Given the description of an element on the screen output the (x, y) to click on. 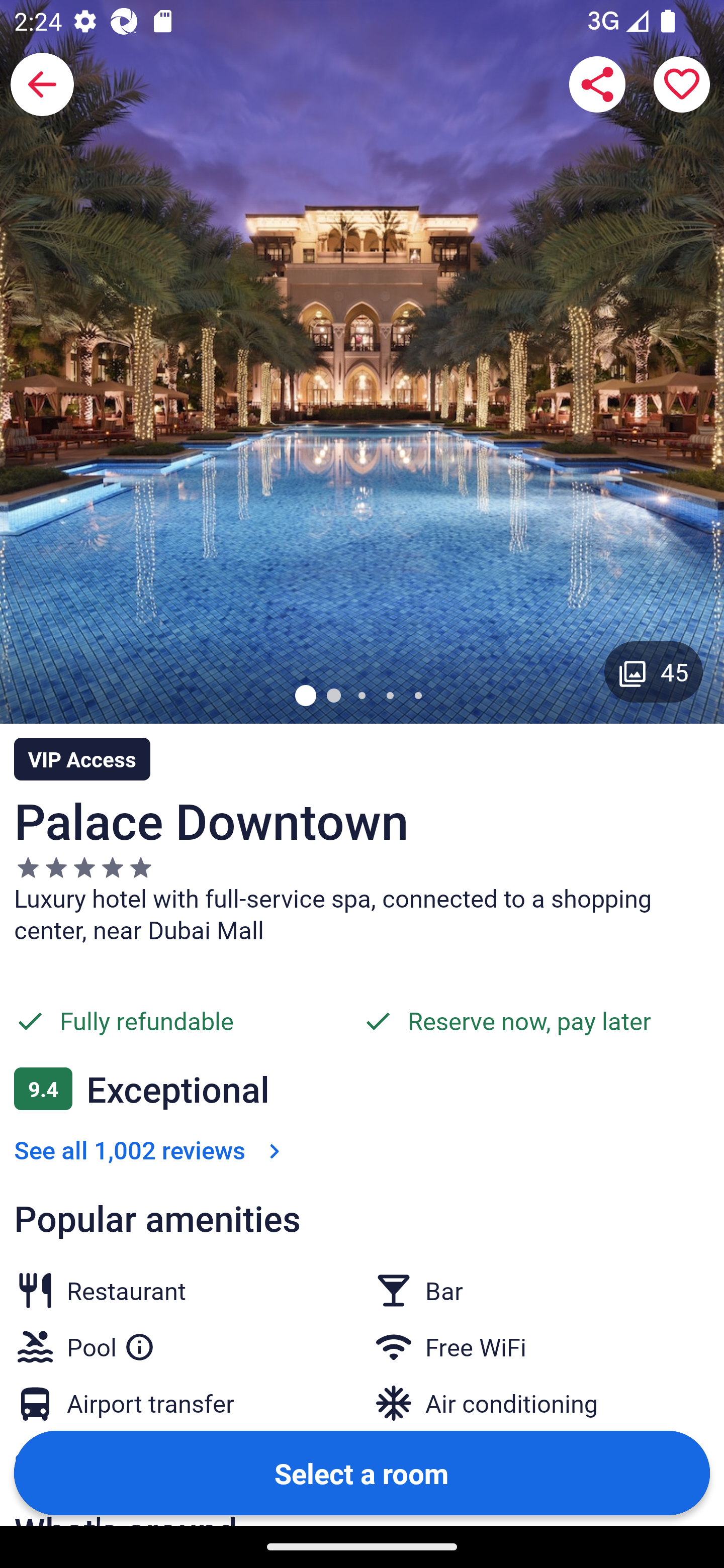
Back (42, 84)
Save property to a trip (681, 84)
Share Palace Downtown (597, 84)
Gallery button with 45 images (653, 671)
See all 1,002 reviews See all 1,002 reviews Link (150, 1149)
Pool (110, 1342)
Select a room Button Select a room (361, 1472)
